Given the description of an element on the screen output the (x, y) to click on. 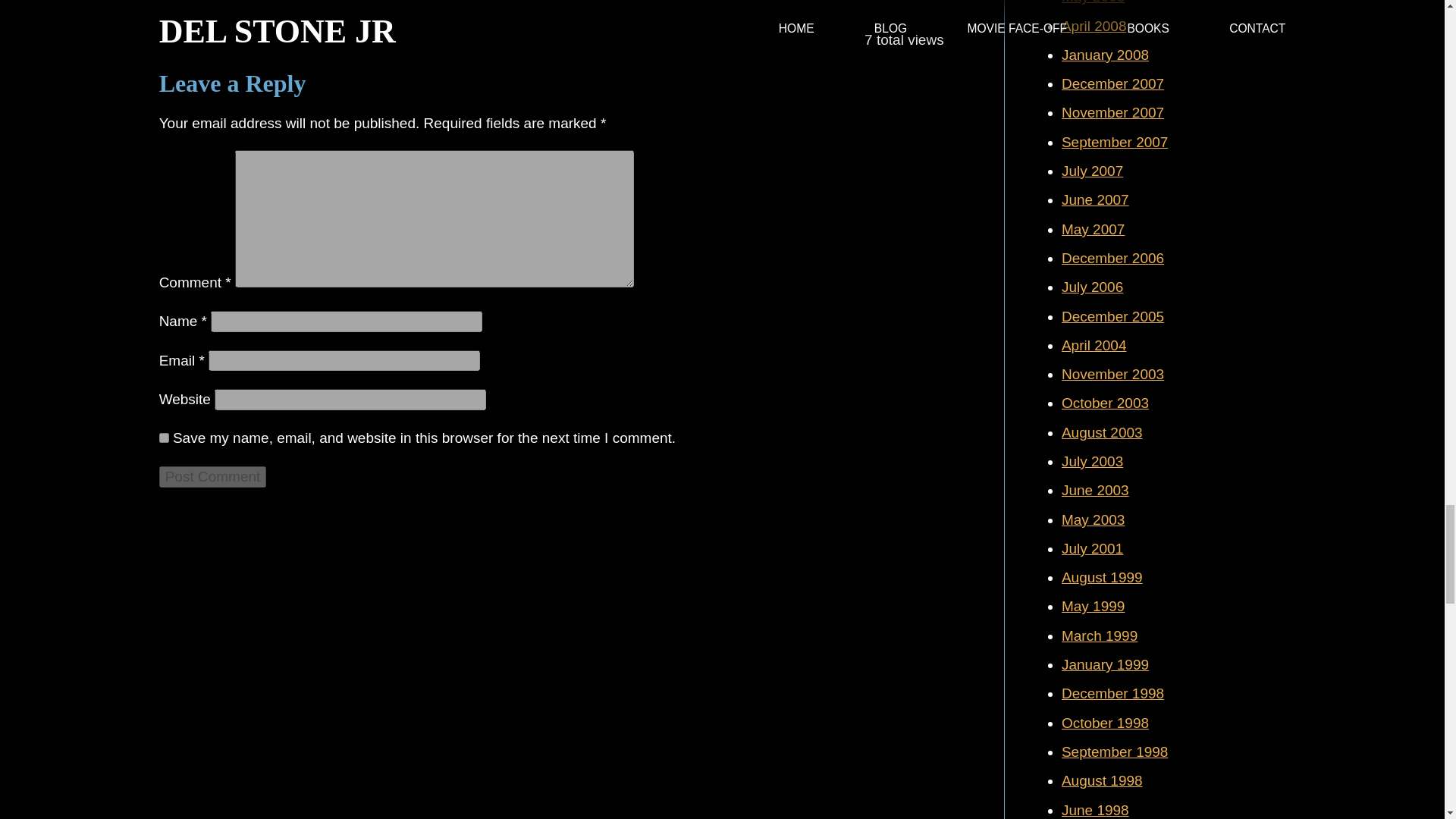
Post Comment (212, 476)
yes (163, 438)
Post Comment (212, 476)
